Given the description of an element on the screen output the (x, y) to click on. 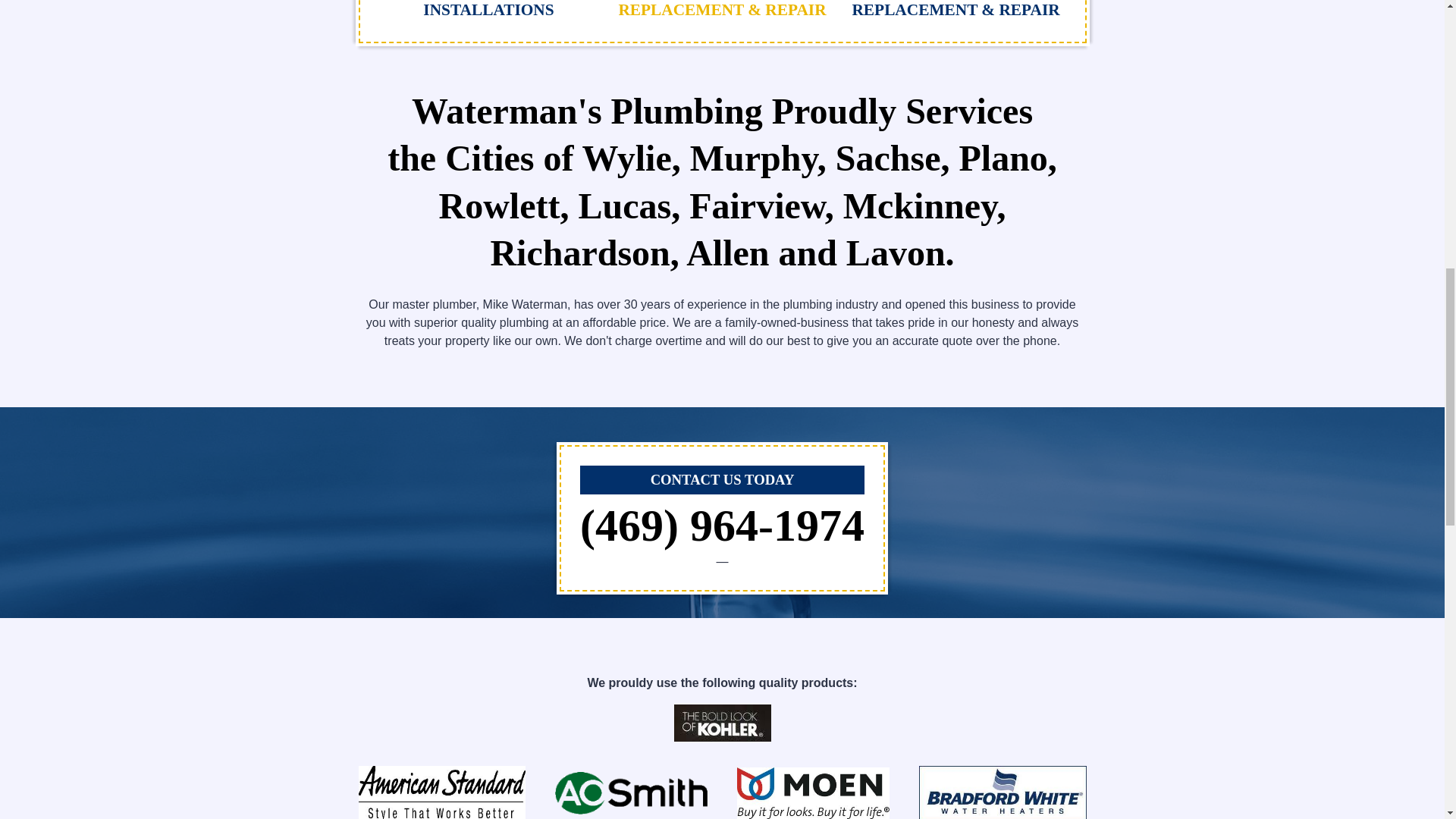
AO Smith Logo (630, 793)
Kohler Logo (721, 723)
WATER HEATER INSTALLATIONS (488, 8)
American Standard Logo (441, 792)
Bradford White Logo (1002, 792)
Moen Logo (812, 793)
